Given the description of an element on the screen output the (x, y) to click on. 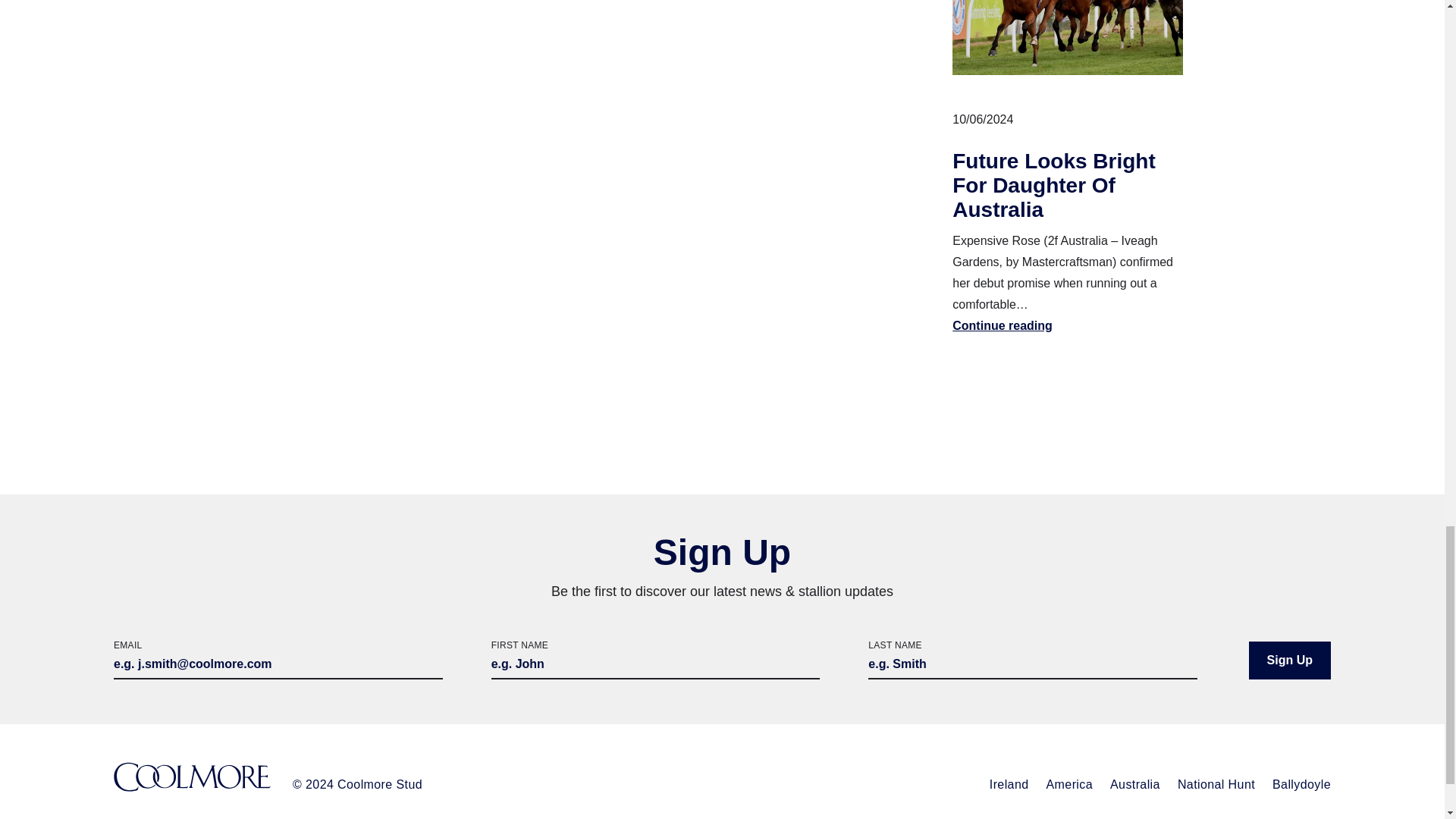
Ballydoyle (1301, 784)
Ireland (1009, 784)
Sign Up (1289, 660)
Coolmore (191, 778)
America (1069, 784)
Australia (1134, 784)
National Hunt (1216, 784)
